Given the description of an element on the screen output the (x, y) to click on. 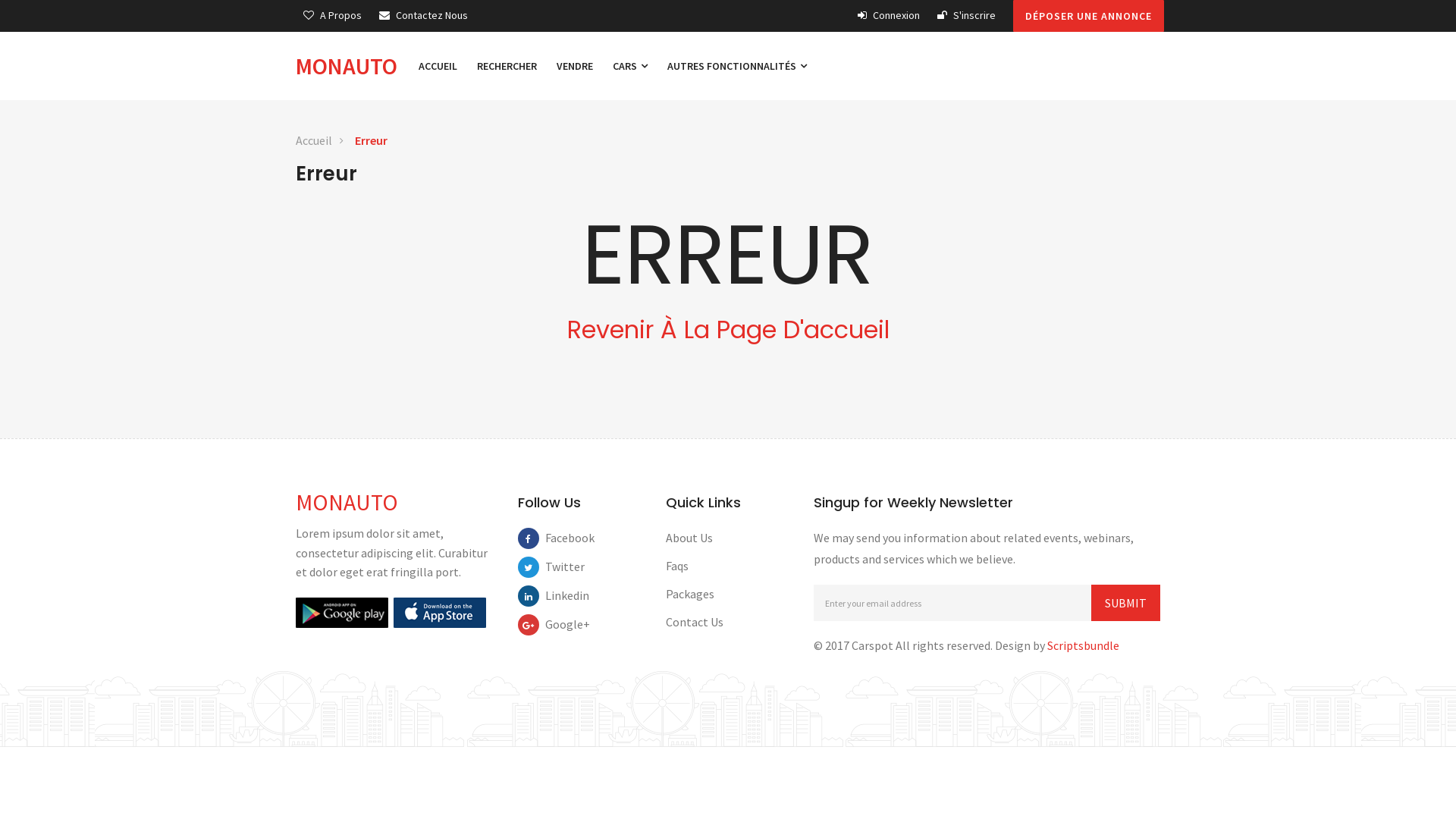
MONAUTO Element type: text (351, 65)
CARS Element type: text (629, 65)
Accueil Element type: text (313, 140)
ACCUEIL Element type: text (437, 65)
Connexion Element type: text (888, 14)
Submit Element type: text (1125, 602)
MONAUTO Element type: text (346, 501)
Packages Element type: text (689, 593)
Erreur Element type: text (370, 140)
RECHERCHER Element type: text (506, 65)
VENDRE Element type: text (574, 65)
Contactez Nous Element type: text (423, 14)
Faqs Element type: text (676, 565)
Scriptsbundle Element type: text (1082, 644)
A Propos Element type: text (332, 14)
Contact Us Element type: text (694, 621)
About Us Element type: text (688, 537)
S'Inscrire Element type: text (966, 14)
